Given the description of an element on the screen output the (x, y) to click on. 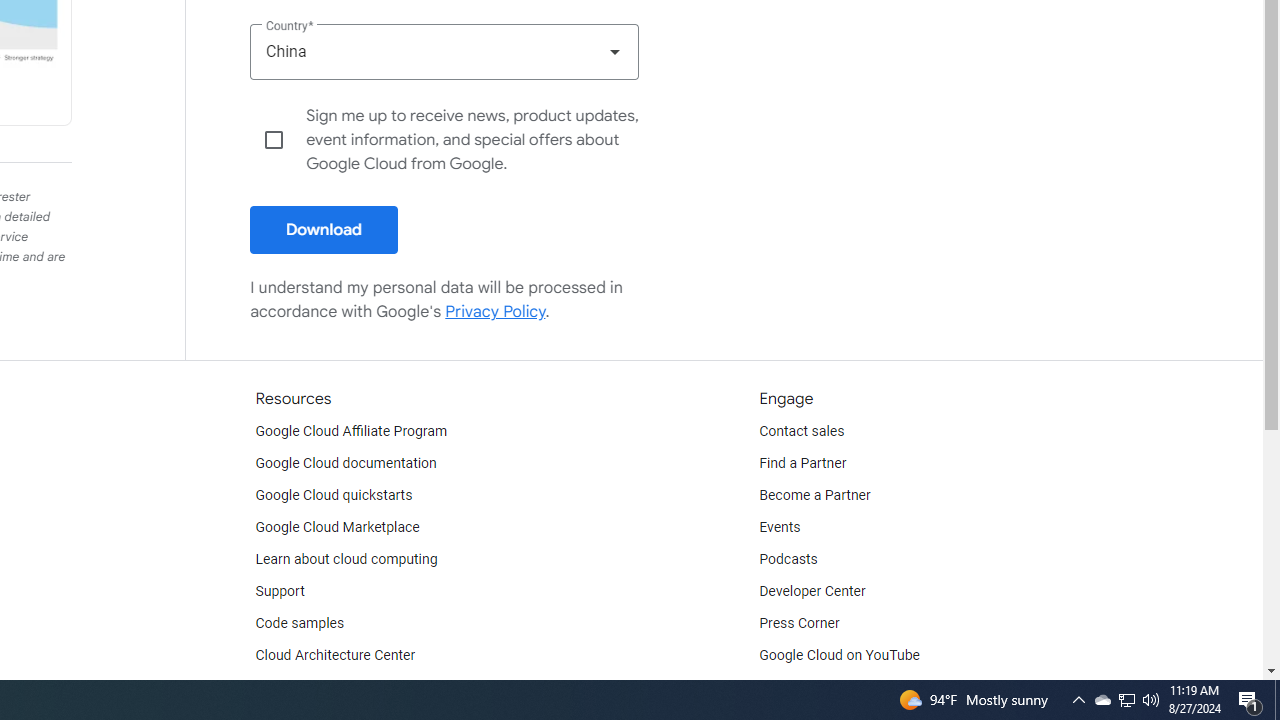
Events (780, 527)
Google Cloud on YouTube (839, 655)
Press Corner (799, 623)
Google Cloud quickstarts (333, 495)
Download (324, 229)
Google Cloud Marketplace (336, 527)
Podcasts (788, 560)
Google Cloud documentation (345, 463)
Code samples (299, 623)
Contact sales (801, 431)
Become a Partner (814, 495)
